Given the description of an element on the screen output the (x, y) to click on. 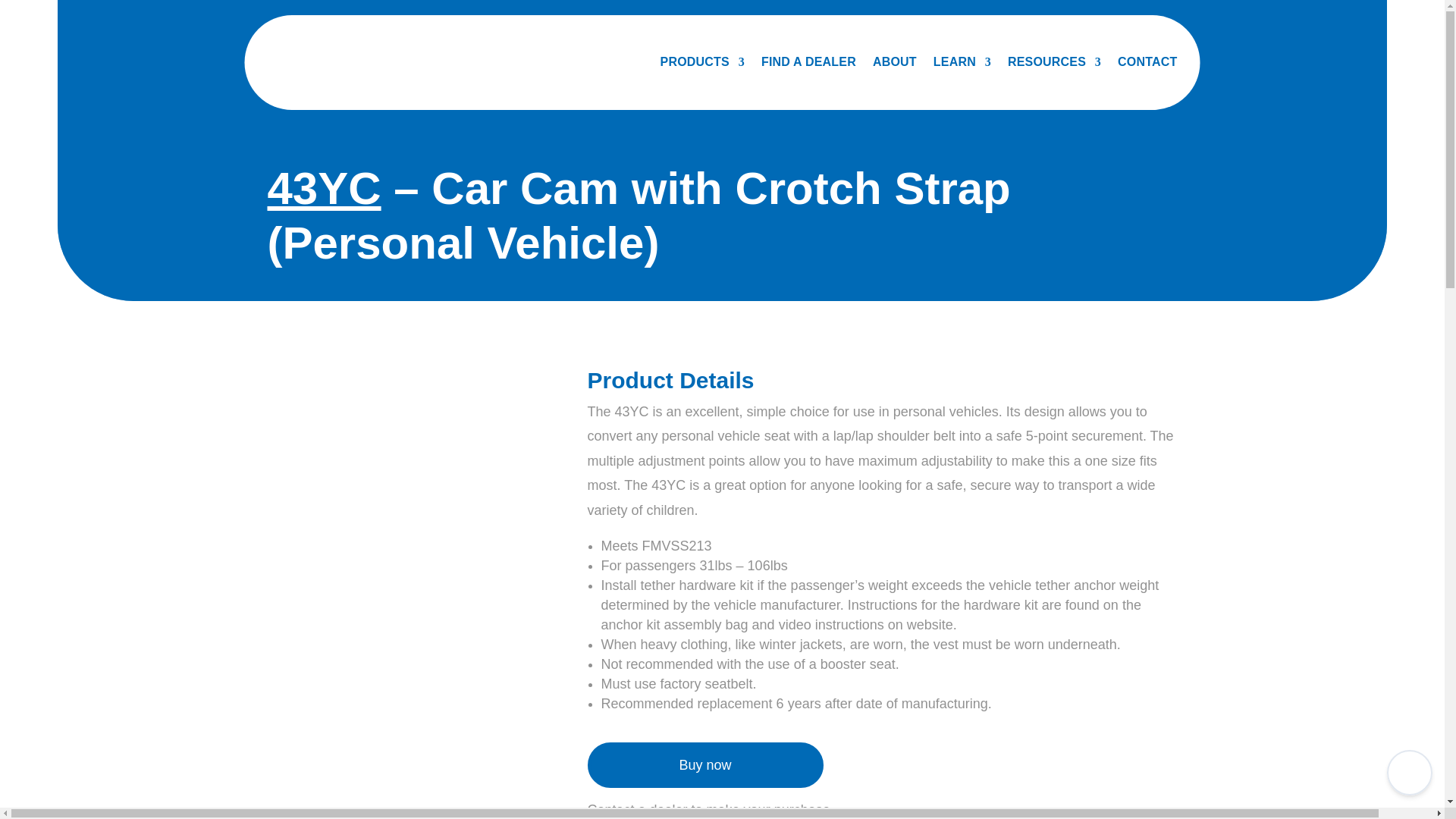
Buy now (704, 764)
PRODUCTS (702, 62)
RESOURCES (1053, 62)
FIND A DEALER (808, 62)
